Given the description of an element on the screen output the (x, y) to click on. 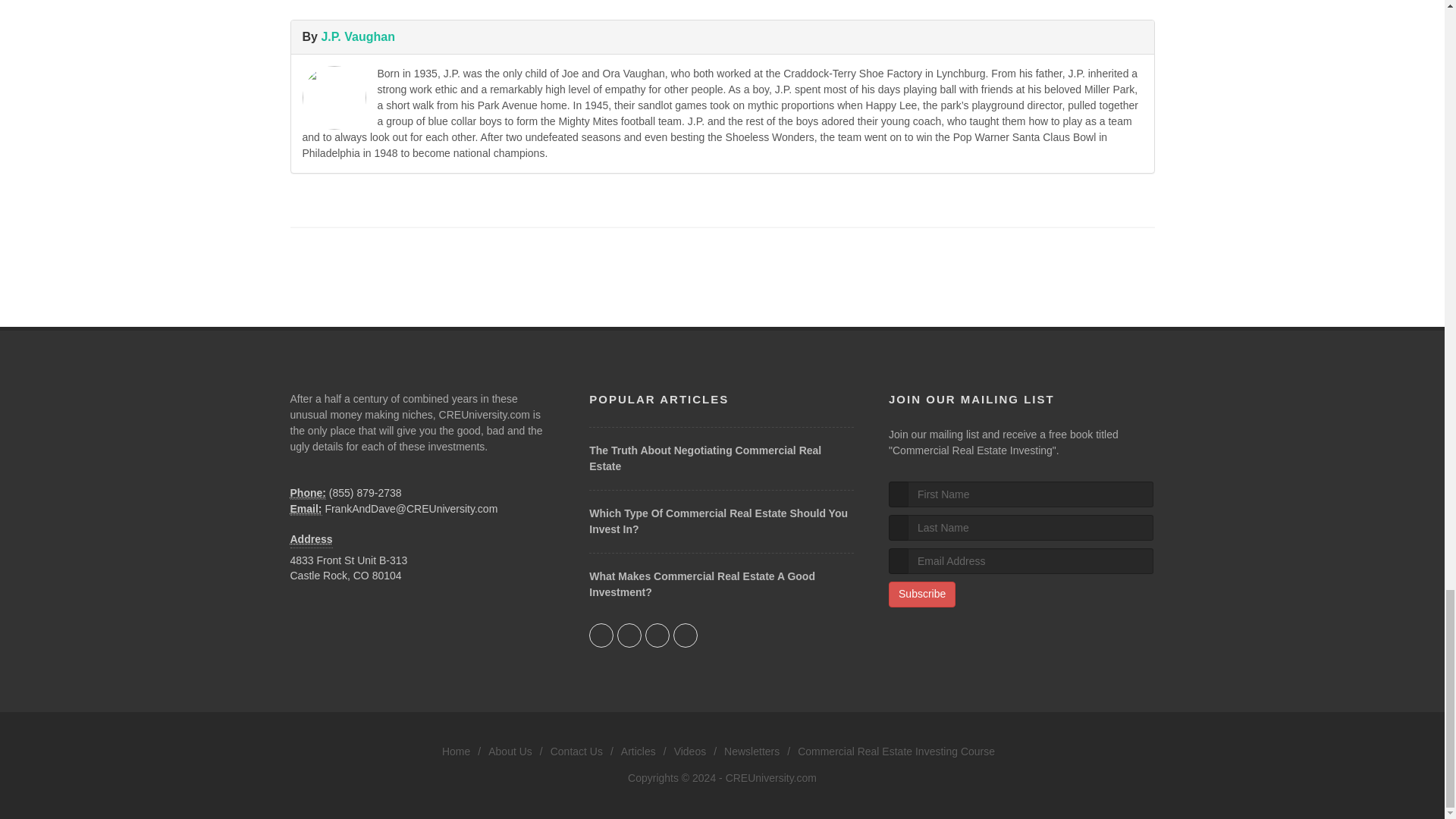
The Truth About Negotiating Commercial Real Estate (705, 458)
Email Address (305, 508)
Which Type Of Commercial Real Estate Should You Invest In? (718, 520)
Subscribe (921, 594)
Headquarters (310, 531)
Articles (638, 751)
Contact Us (576, 751)
Home (456, 751)
Phone Number (306, 492)
About Us (509, 751)
